Given the description of an element on the screen output the (x, y) to click on. 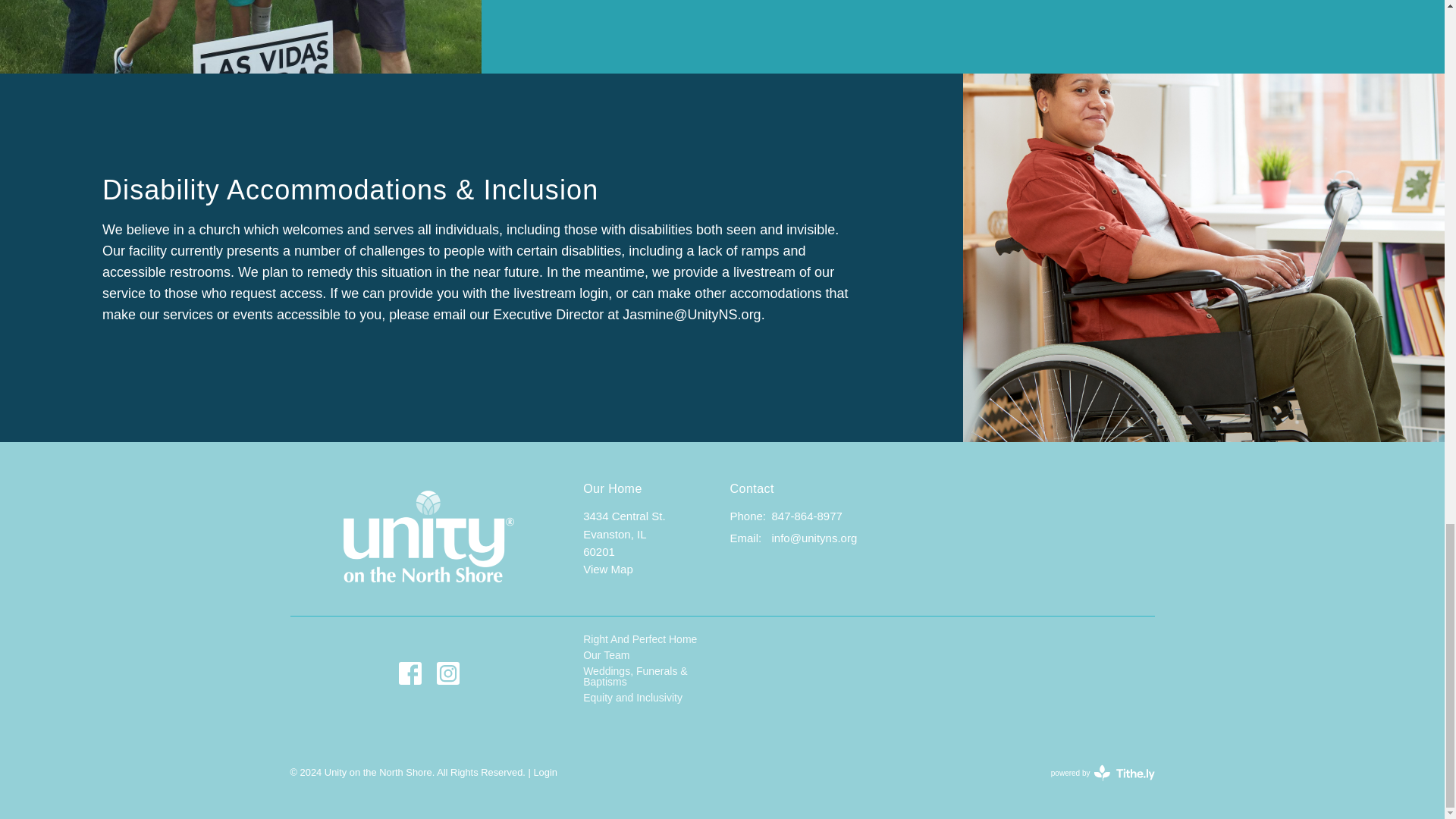
Equity and Inclusivity (632, 697)
translation missing: en.ui.email (743, 537)
Our Team (605, 654)
View Map (608, 568)
Login (544, 772)
Right And Perfect Home (640, 639)
847-864-8977 (806, 515)
